Given the description of an element on the screen output the (x, y) to click on. 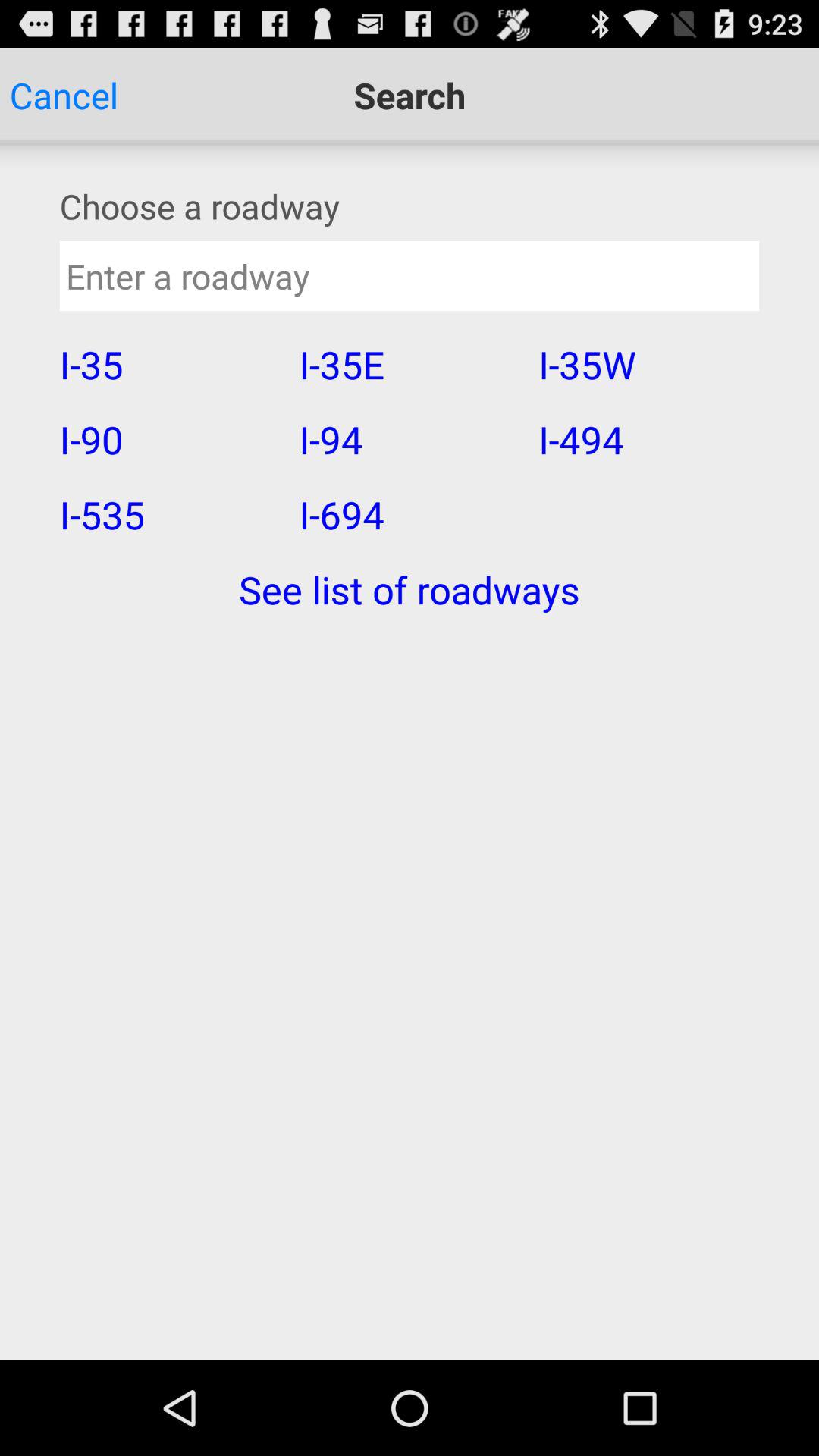
press the item to the left of the i-35w icon (408, 439)
